Given the description of an element on the screen output the (x, y) to click on. 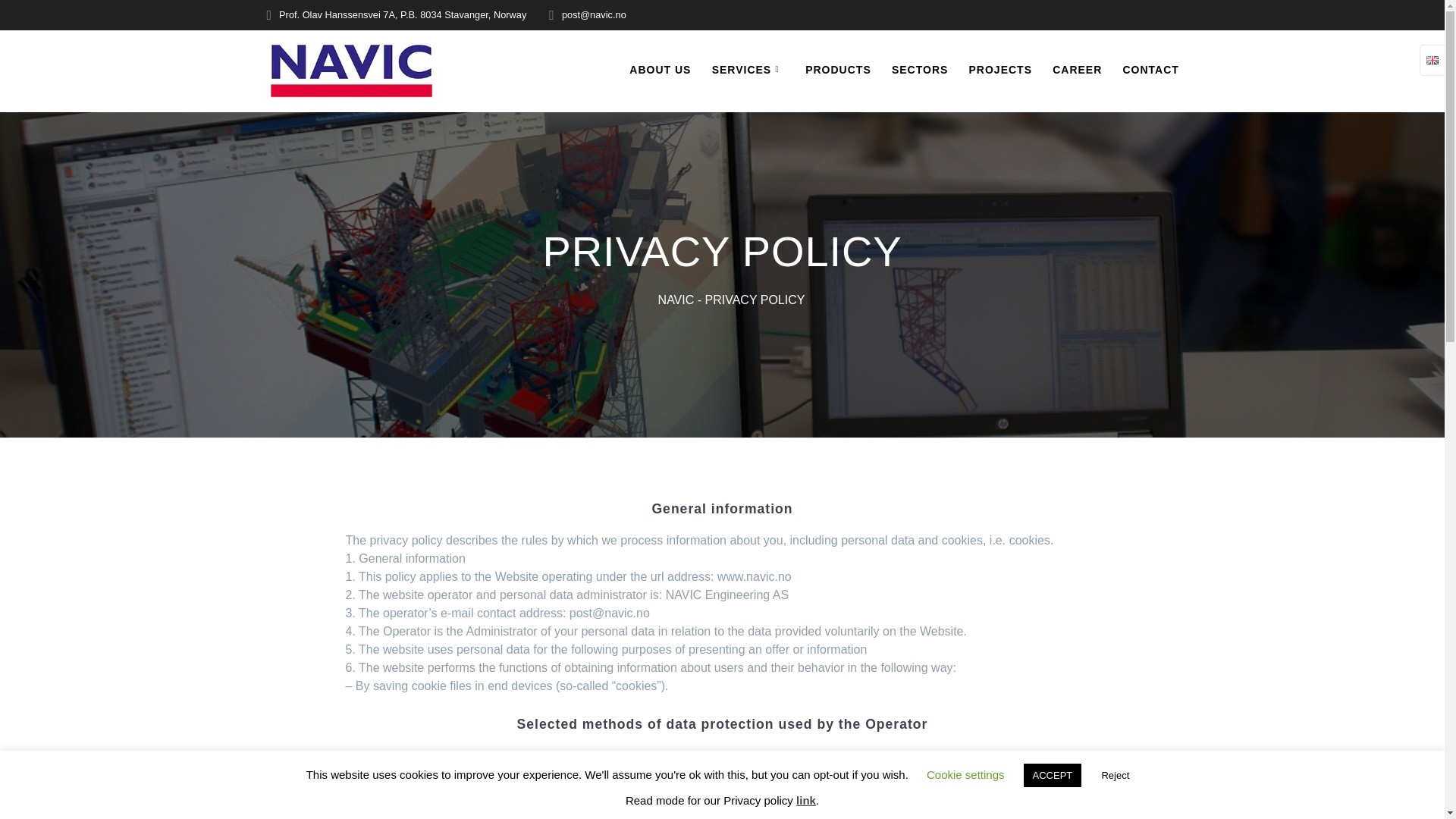
NAVIC (676, 299)
SECTORS (919, 70)
ABOUT US (659, 70)
CAREER (1077, 70)
Prof. Olav Hanssensvei 7A, P.B. 8034 Stavanger, Norway (402, 14)
PRIVACY POLICY (754, 299)
Cookie settings (965, 774)
CONTACT (1149, 70)
SERVICES (747, 70)
PROJECTS (1000, 70)
